Given the description of an element on the screen output the (x, y) to click on. 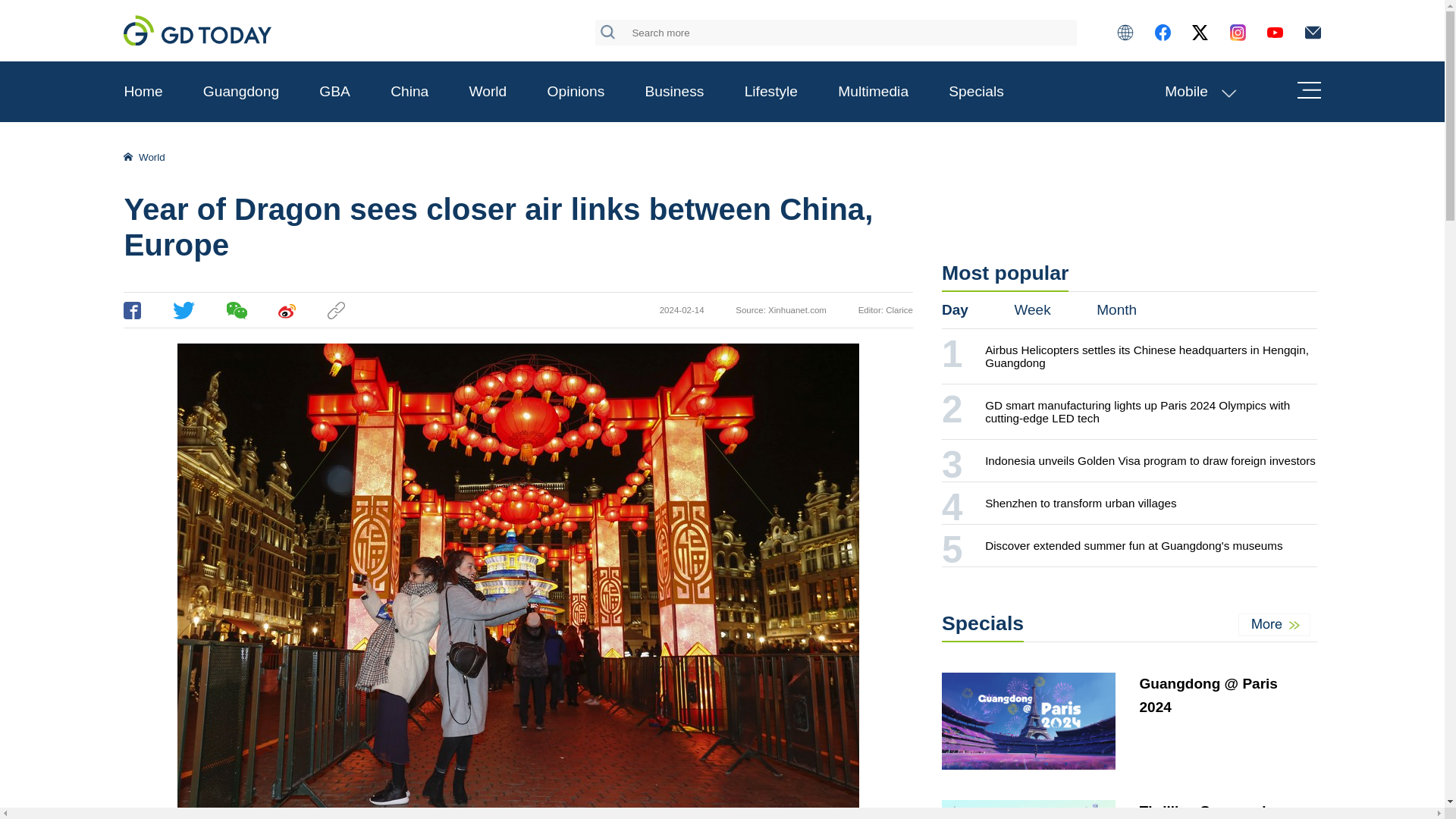
Guangdong (241, 91)
Specials (976, 91)
GBA (334, 91)
Facebook (132, 310)
World (487, 91)
Multimedia (873, 91)
Opinions (576, 91)
Business (674, 91)
Twitter (184, 310)
China (409, 91)
Weibo (286, 310)
Lifestyle (770, 91)
Home (142, 91)
